Given the description of an element on the screen output the (x, y) to click on. 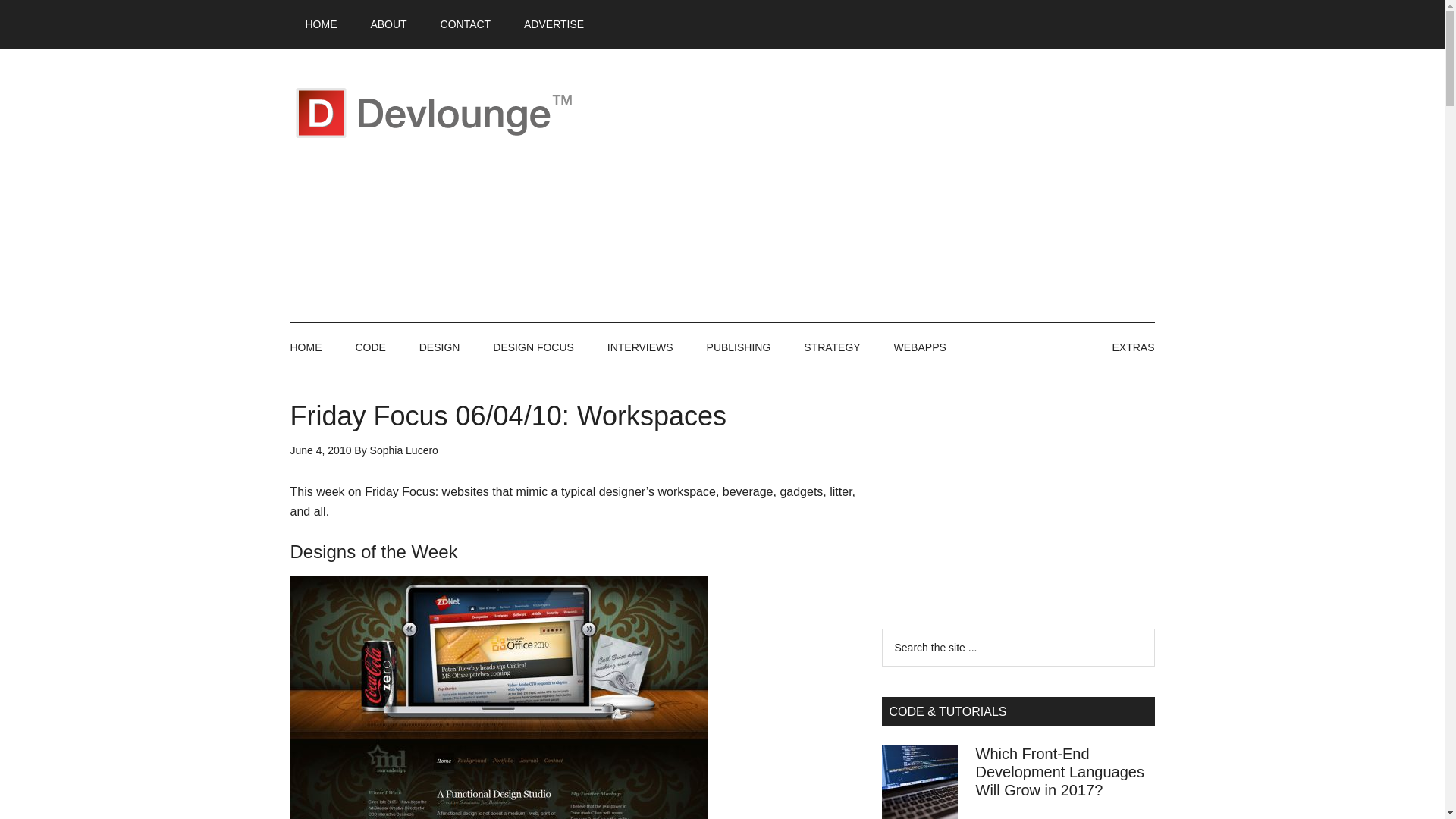
HOME (320, 24)
Sophia Lucero (403, 450)
STRATEGY (832, 346)
CODE (369, 346)
Marc Mendell (497, 697)
CONTACT (465, 24)
INTERVIEWS (640, 346)
DESIGN FOCUS (533, 346)
ABOUT (388, 24)
WEBAPPS (919, 346)
PUBLISHING (738, 346)
DESIGN (440, 346)
Advertisement (878, 184)
